Given the description of an element on the screen output the (x, y) to click on. 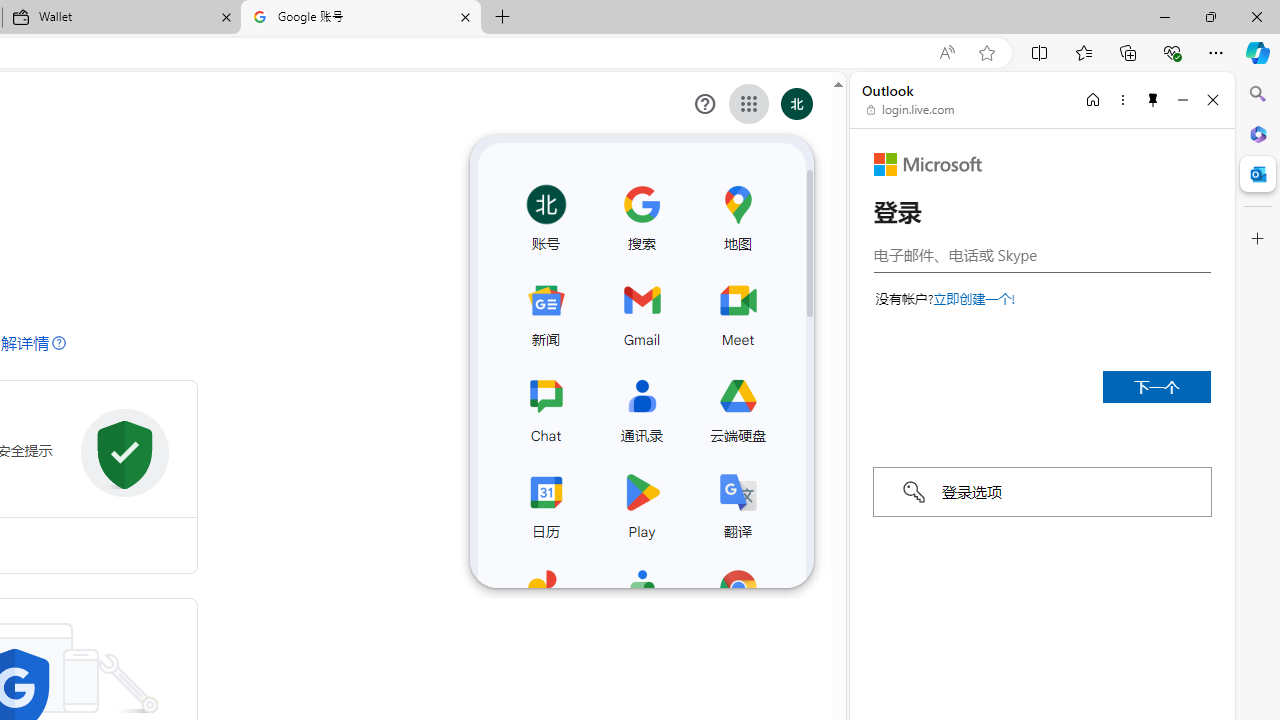
login.live.com (911, 110)
Chrome (737, 598)
Unpin side pane (1153, 99)
Gmail (641, 310)
